Given the description of an element on the screen output the (x, y) to click on. 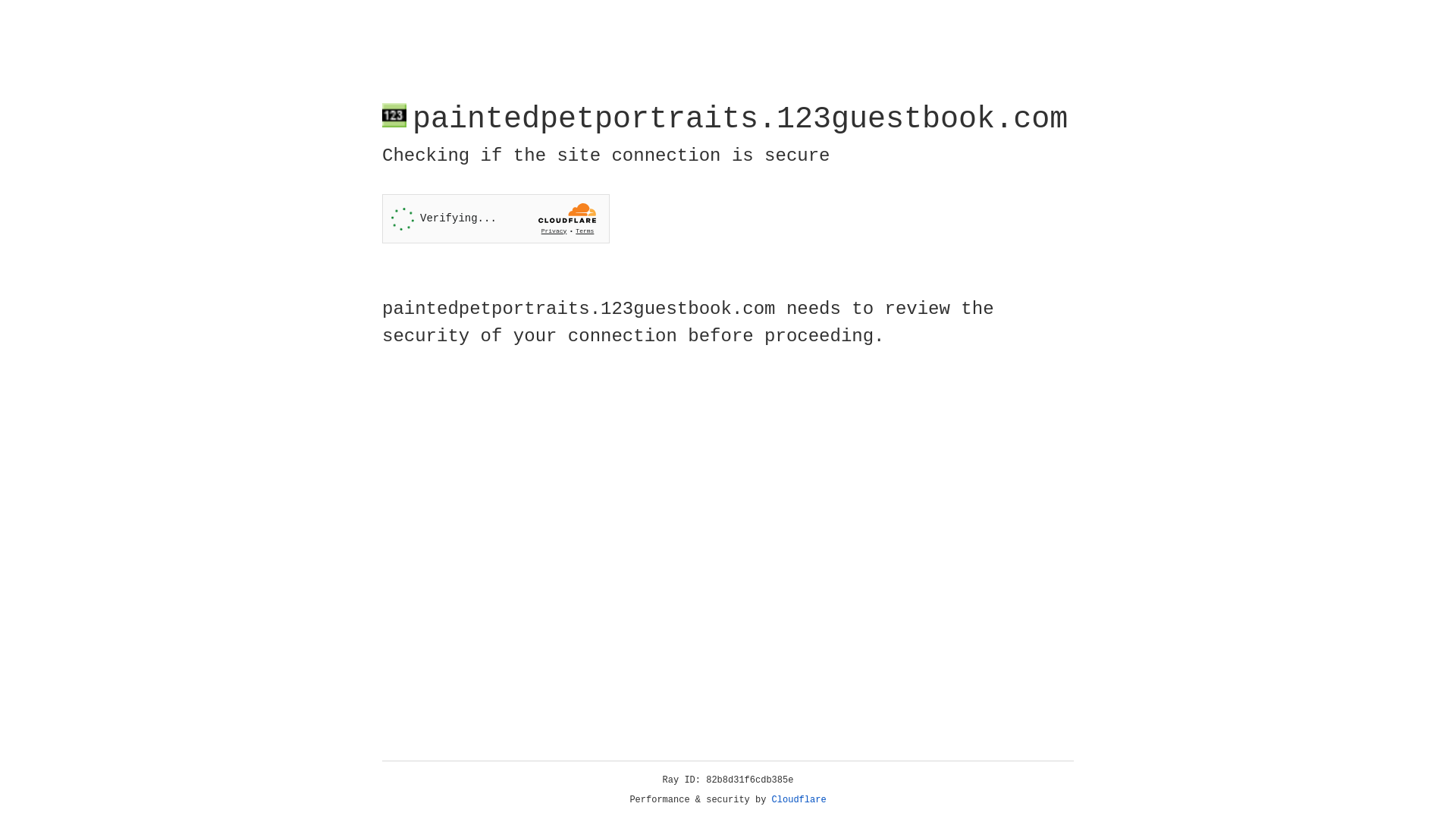
Cloudflare Element type: text (798, 799)
Widget containing a Cloudflare security challenge Element type: hover (495, 218)
